Given the description of an element on the screen output the (x, y) to click on. 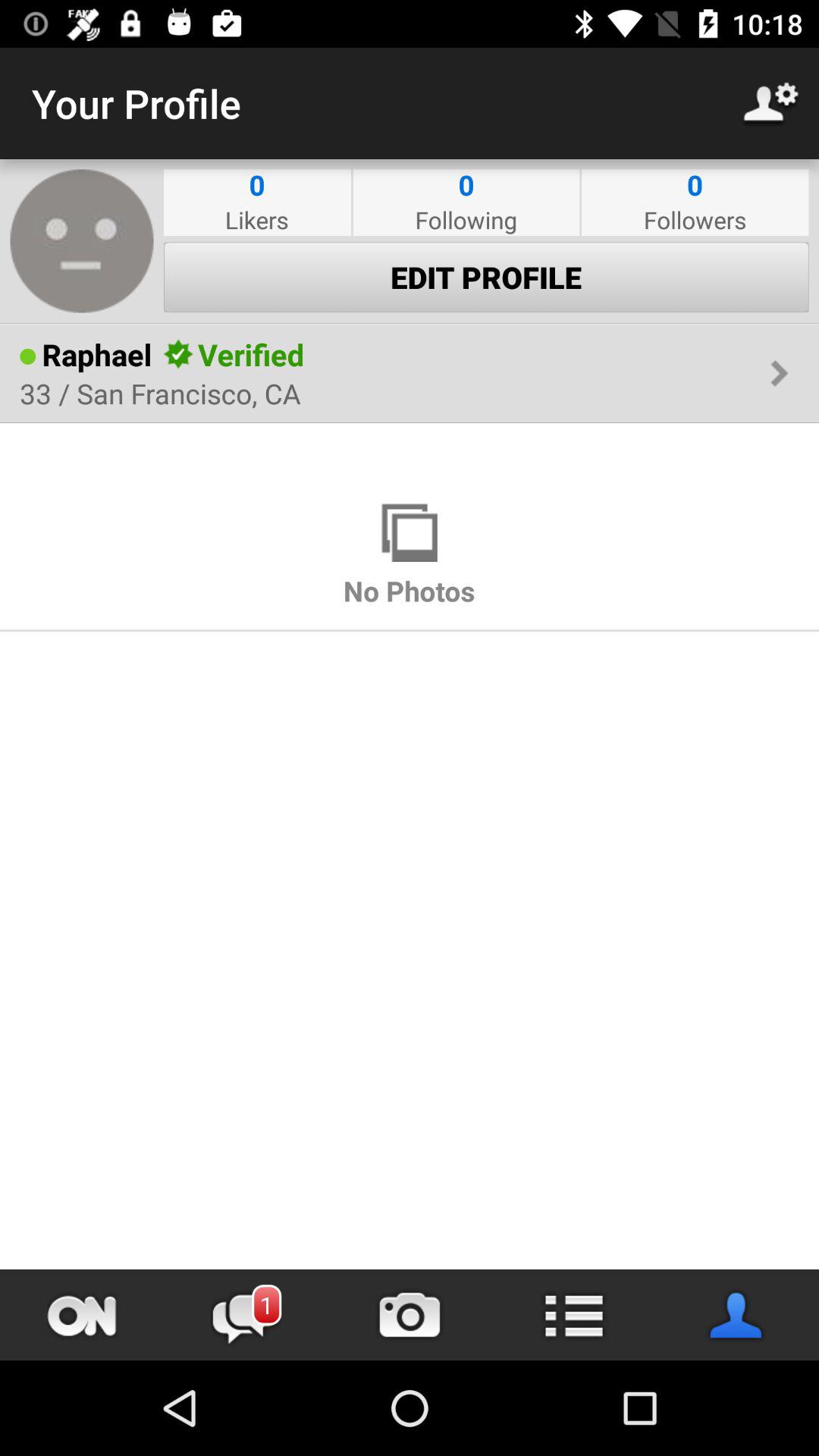
turn off the icon above raphael item (409, 323)
